Given the description of an element on the screen output the (x, y) to click on. 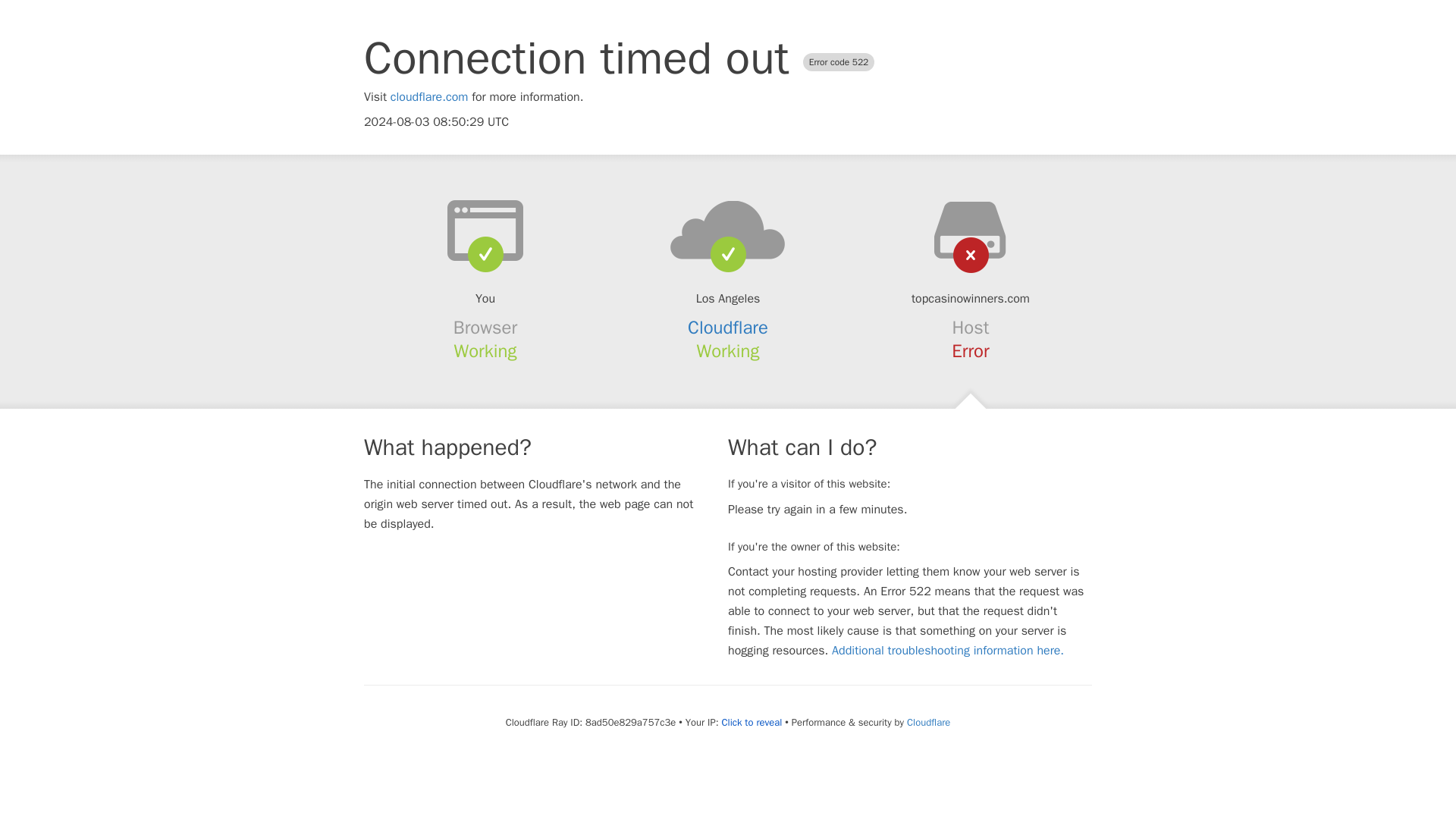
Additional troubleshooting information here. (947, 650)
cloudflare.com (429, 96)
Click to reveal (750, 722)
Cloudflare (928, 721)
Cloudflare (727, 327)
